Given the description of an element on the screen output the (x, y) to click on. 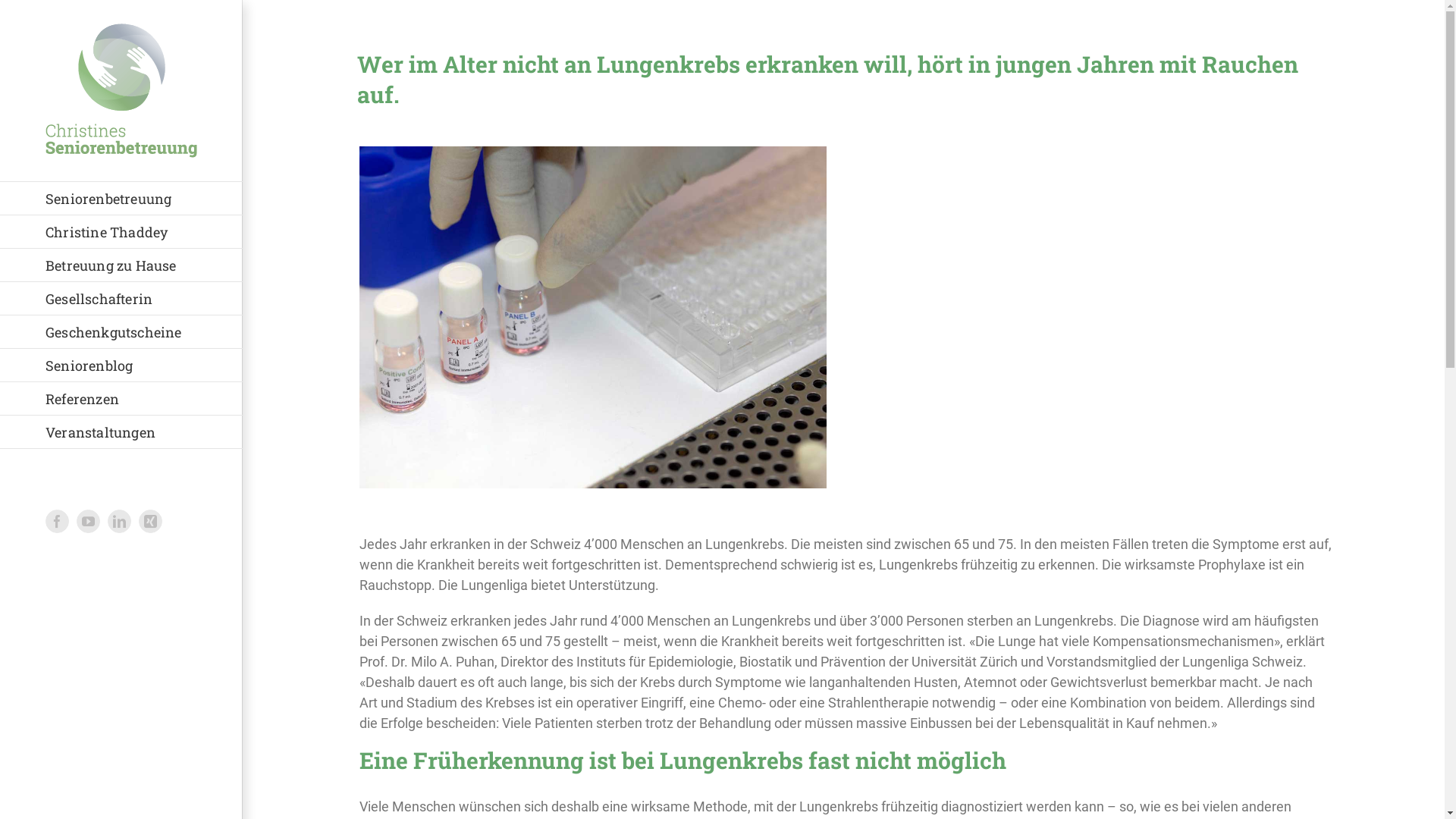
Referenzen Element type: text (121, 398)
Geschenkgutscheine Element type: text (121, 331)
Facebook Element type: text (57, 521)
YouTube Element type: text (88, 521)
Betreuung zu Hause Element type: text (121, 265)
blog-lungenkrebs-lungenliga-schweiz Element type: hover (592, 317)
Xing Element type: text (150, 521)
LinkedIn Element type: text (119, 521)
Seniorenbetreuung Element type: text (121, 198)
Veranstaltungen Element type: text (121, 431)
Gesellschafterin Element type: text (121, 298)
Christine Thaddey Element type: text (121, 231)
Seniorenblog Element type: text (121, 365)
